Given the description of an element on the screen output the (x, y) to click on. 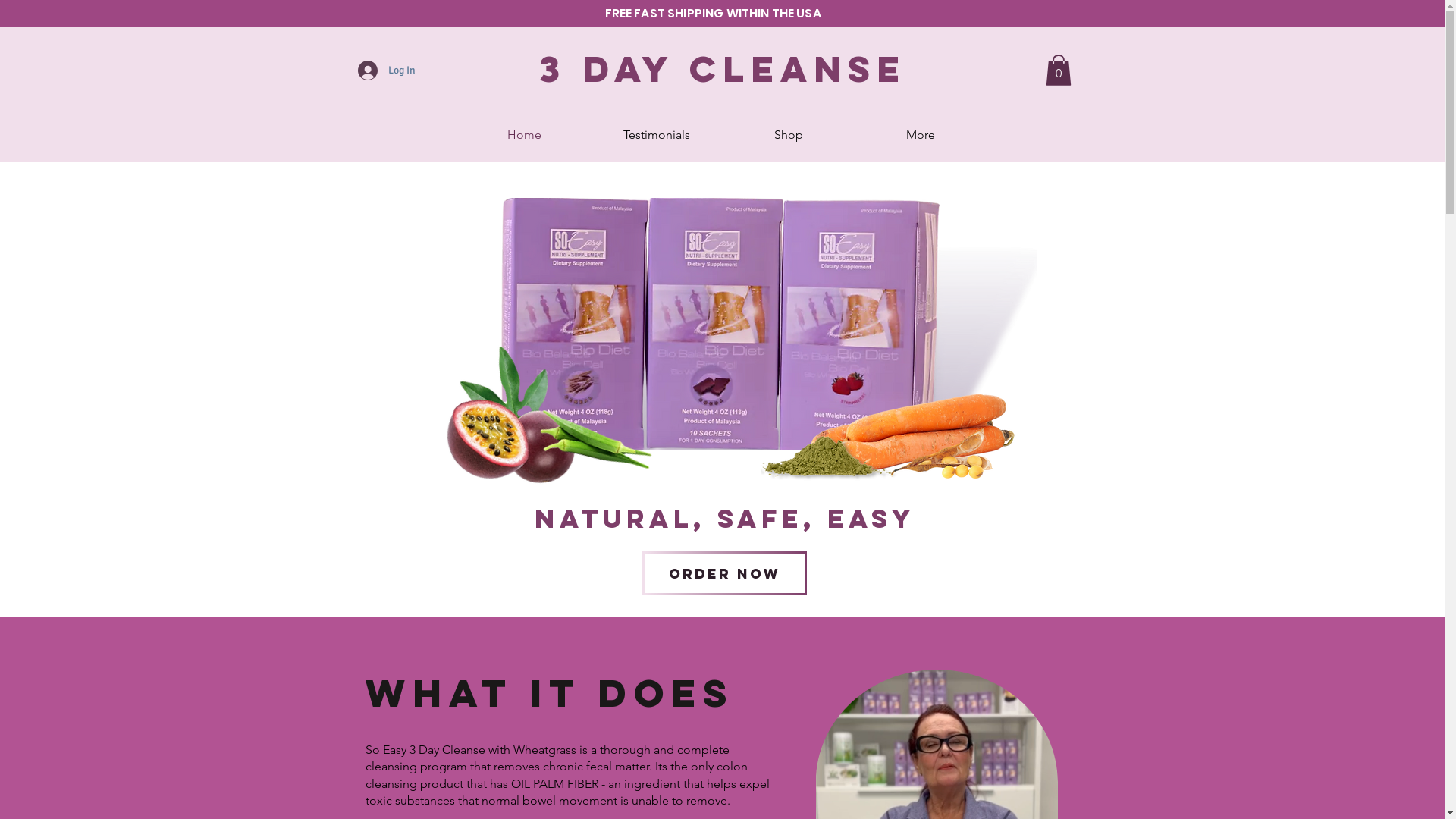
Testimonials Element type: text (655, 134)
Log In Element type: text (386, 70)
Shop Element type: text (787, 134)
okra.jpeg Element type: hover (577, 418)
0 Element type: text (1057, 69)
Home Element type: text (523, 134)
order now Element type: text (723, 573)
